Given the description of an element on the screen output the (x, y) to click on. 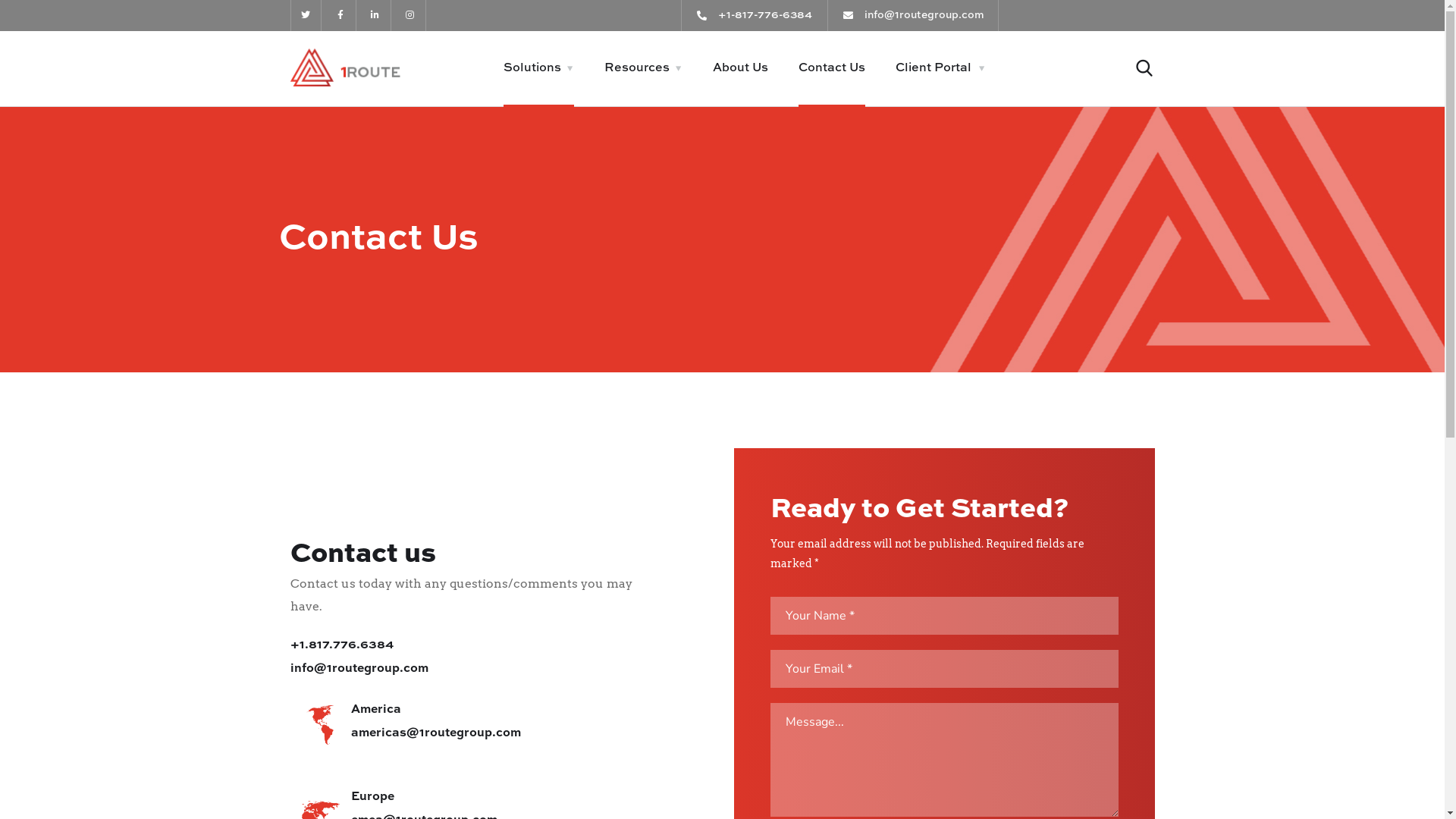
Contact Us Element type: text (831, 68)
Client Portal Element type: text (939, 68)
+1-817-776-6384 Element type: text (754, 15)
+1.817.776.6384 Element type: text (340, 645)
Resources Element type: text (643, 68)
info@1routegroup.com Element type: text (913, 15)
Solutions Element type: text (538, 68)
info@1routegroup.com Element type: text (358, 668)
About Us Element type: text (740, 68)
americas@1routegroup.com Element type: text (435, 733)
